Given the description of an element on the screen output the (x, y) to click on. 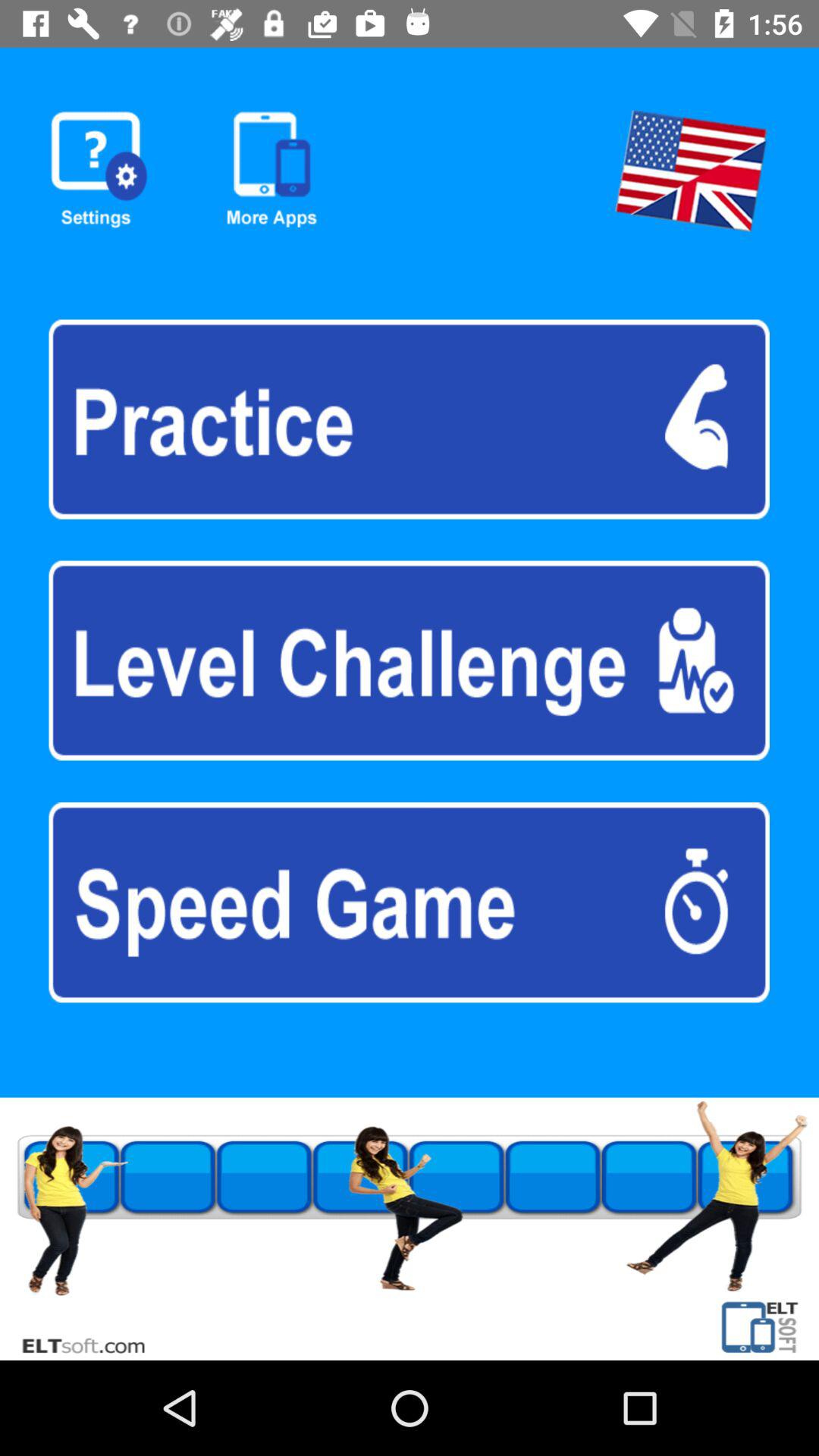
settings (98, 170)
